Given the description of an element on the screen output the (x, y) to click on. 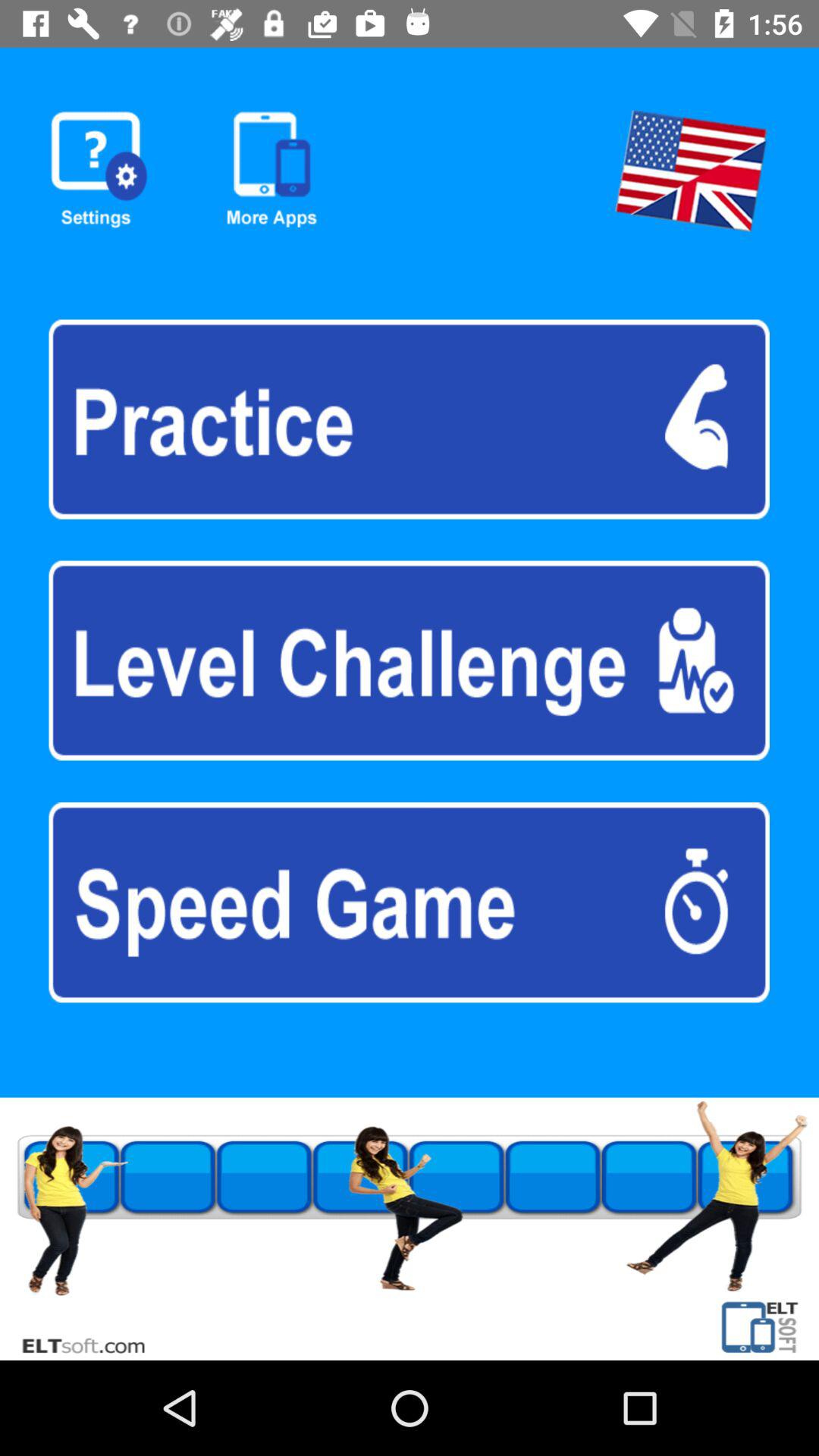
settings (98, 170)
